Given the description of an element on the screen output the (x, y) to click on. 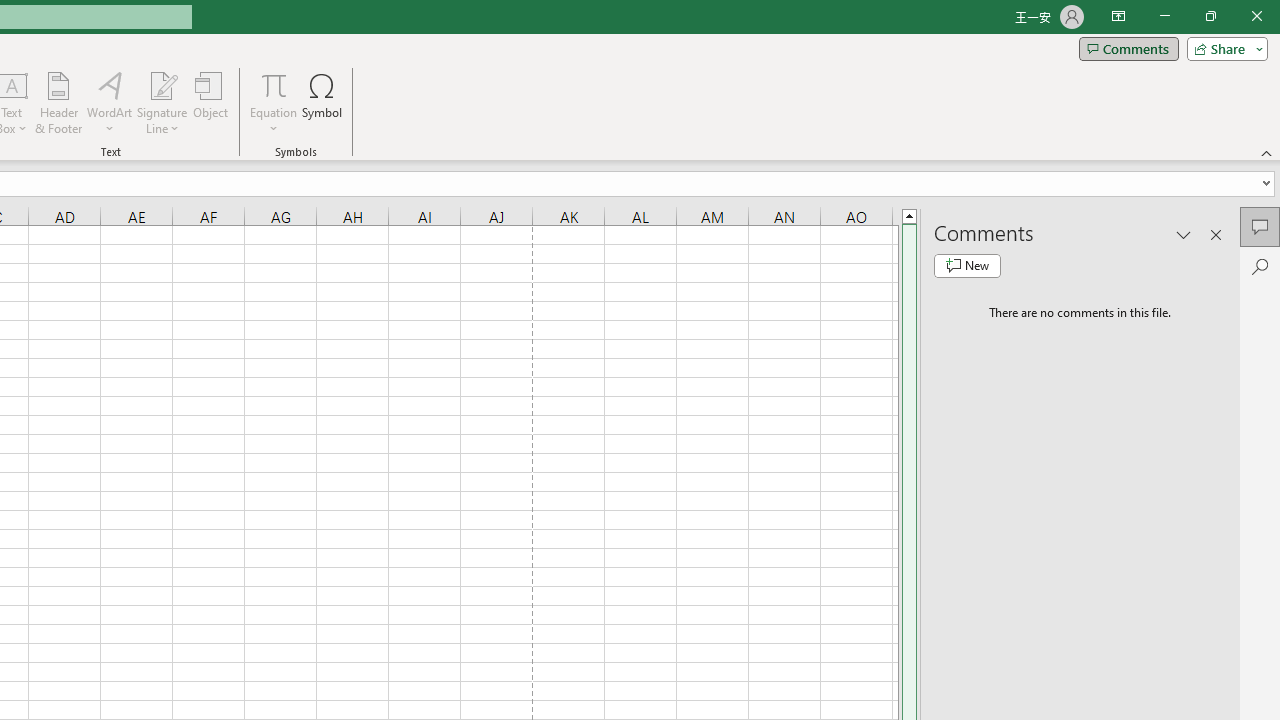
Symbol... (322, 102)
Task Pane Options (1183, 234)
New comment (967, 265)
WordArt (109, 102)
Line up (909, 215)
Comments (1260, 226)
More Options (273, 121)
Header & Footer... (58, 102)
Signature Line (161, 102)
Ribbon Display Options (1118, 16)
Comments (1128, 48)
Minimize (1164, 16)
Equation (273, 84)
Close pane (1215, 234)
Equation (273, 102)
